Given the description of an element on the screen output the (x, y) to click on. 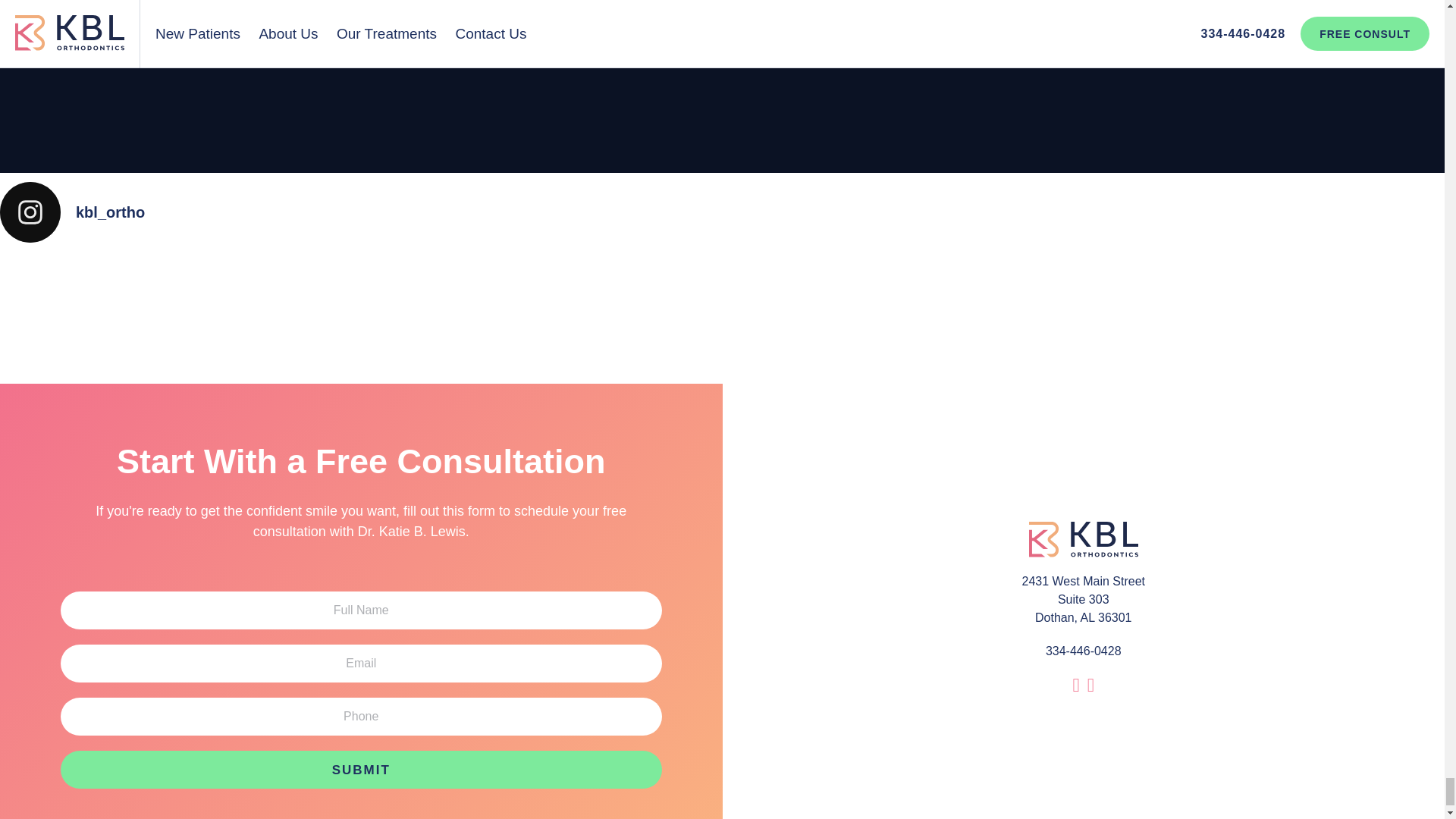
Submit (361, 769)
